Given the description of an element on the screen output the (x, y) to click on. 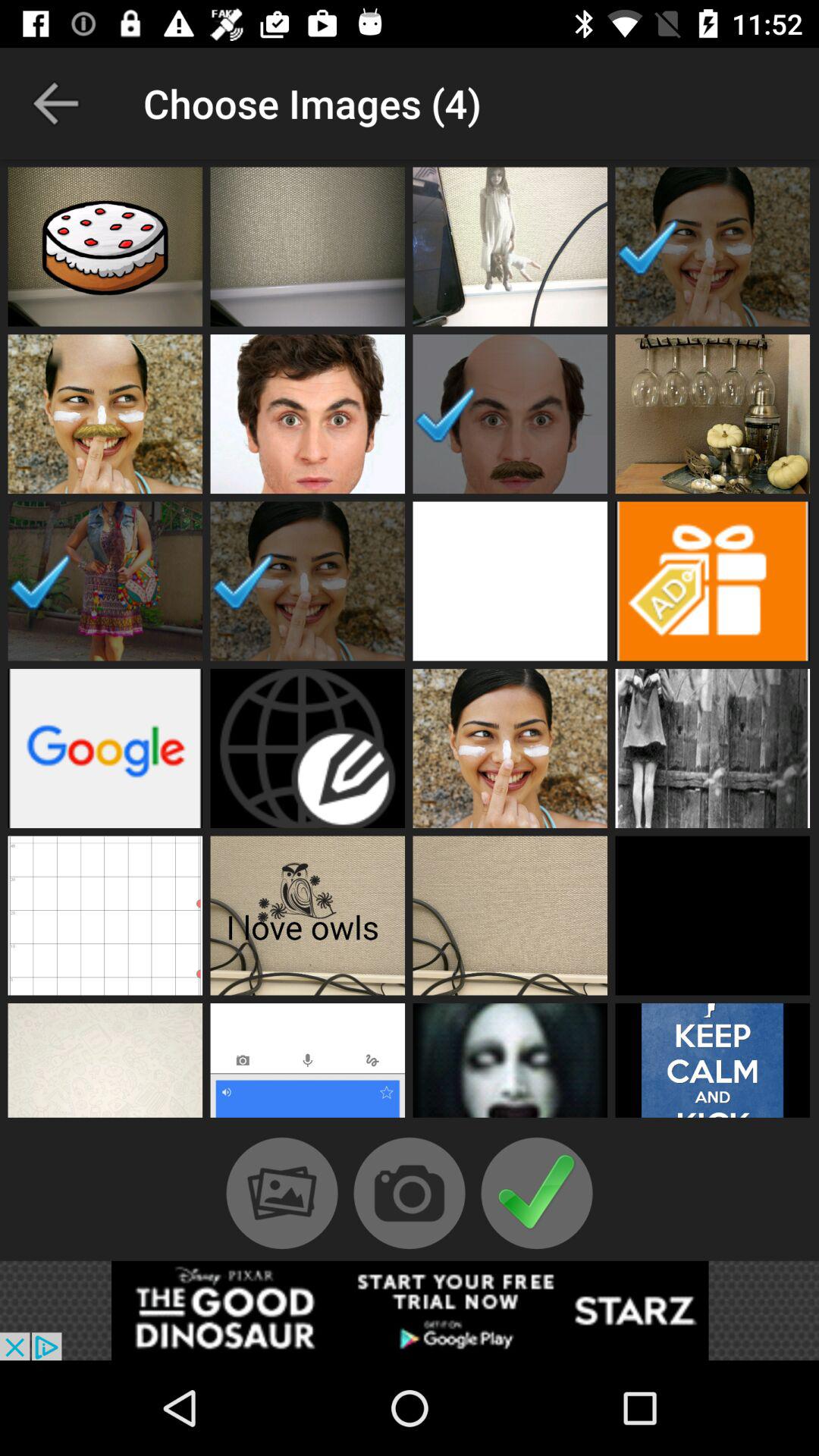
select the image to use (307, 1064)
